Given the description of an element on the screen output the (x, y) to click on. 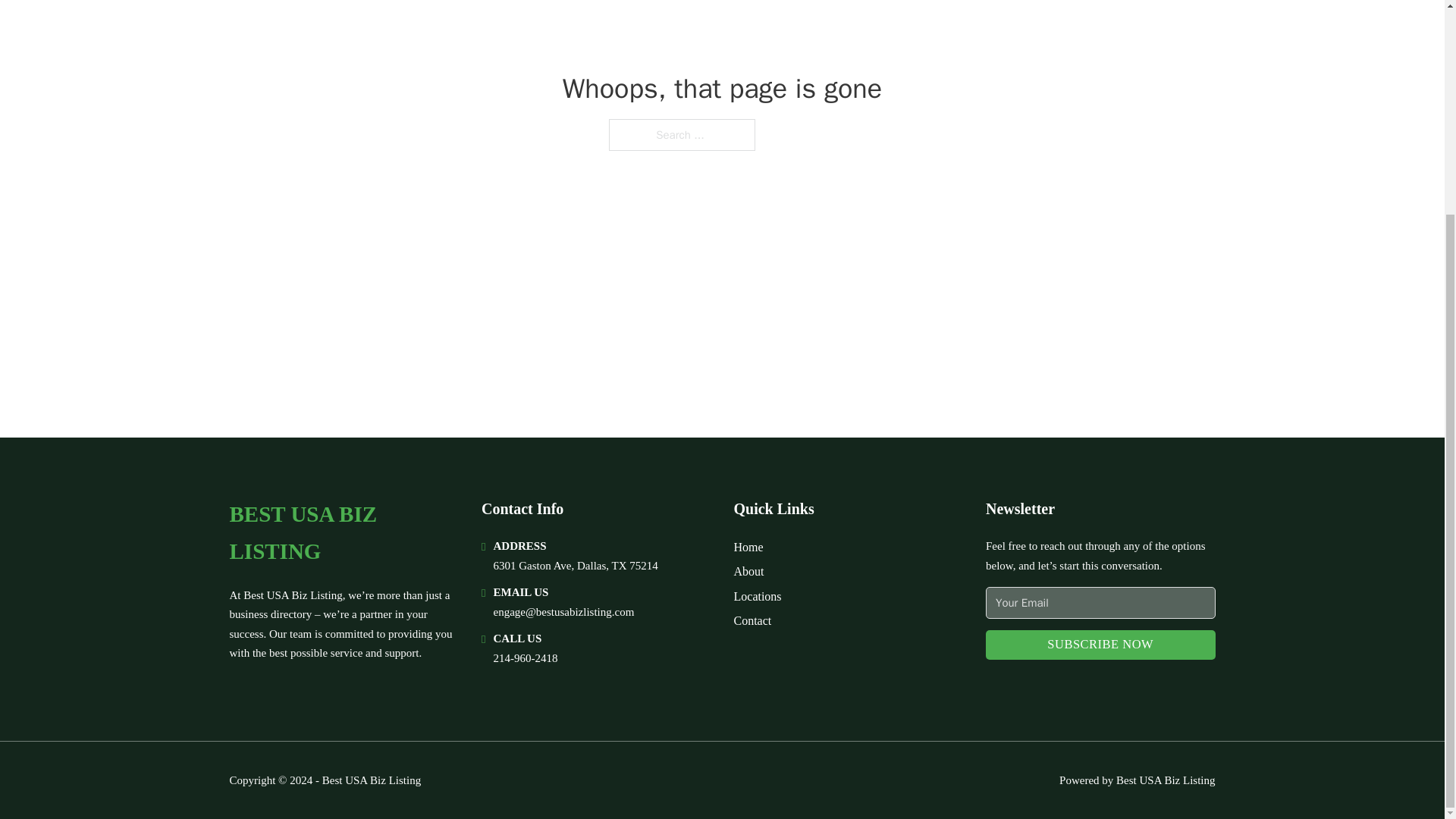
214-960-2418 (525, 657)
SUBSCRIBE NOW (1100, 644)
Contact (752, 620)
BEST USA BIZ LISTING (343, 533)
Locations (757, 596)
About (748, 571)
Home (747, 547)
